Given the description of an element on the screen output the (x, y) to click on. 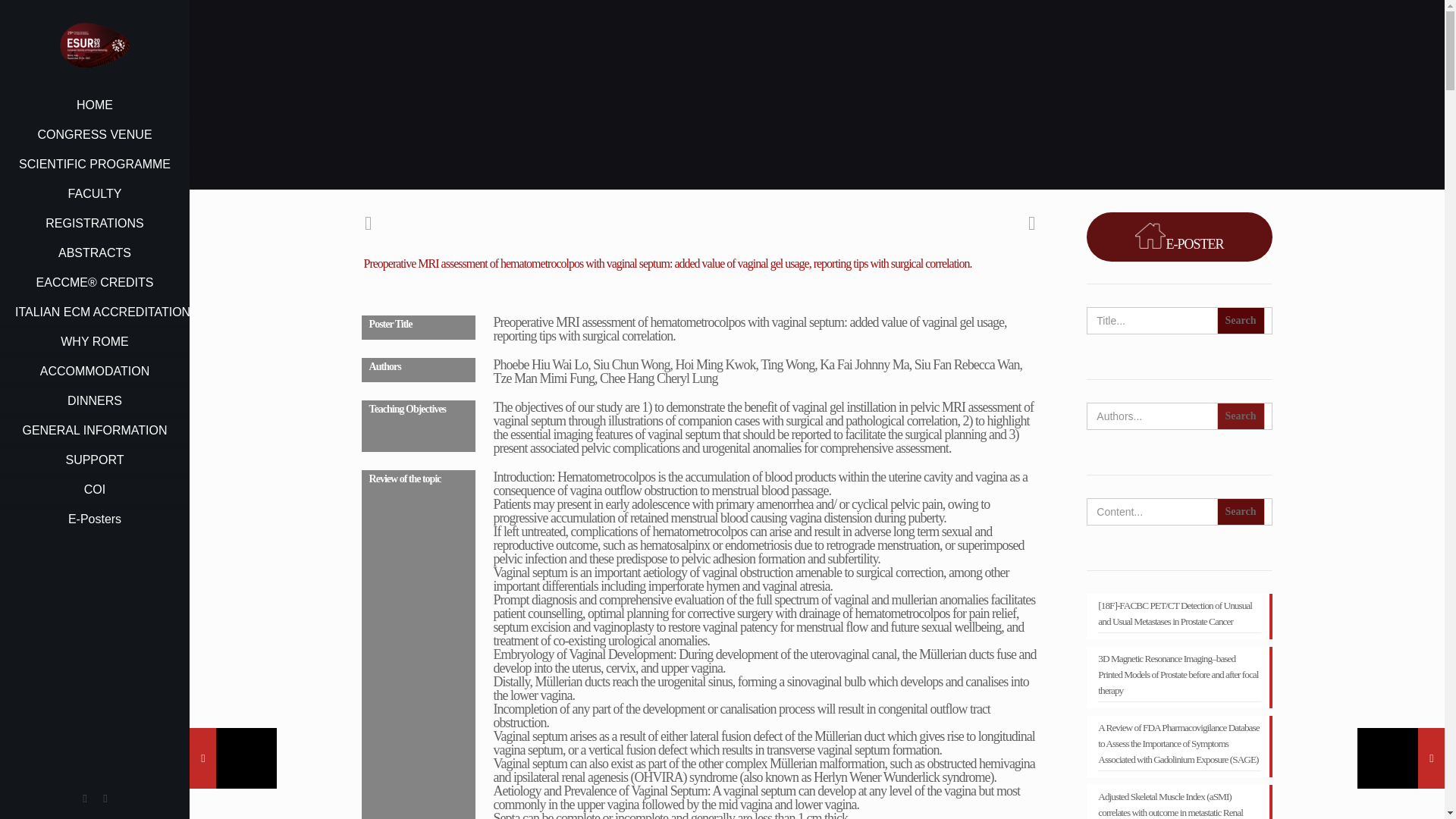
REGISTRATIONS (94, 224)
SCIENTIFIC PROGRAMME (94, 164)
Search (1241, 511)
Search (1241, 511)
Search (1241, 415)
HOME (94, 105)
ESUR 2023 (94, 45)
E-POSTER (1178, 236)
Search (1241, 415)
SUPPORT (94, 460)
